Given the description of an element on the screen output the (x, y) to click on. 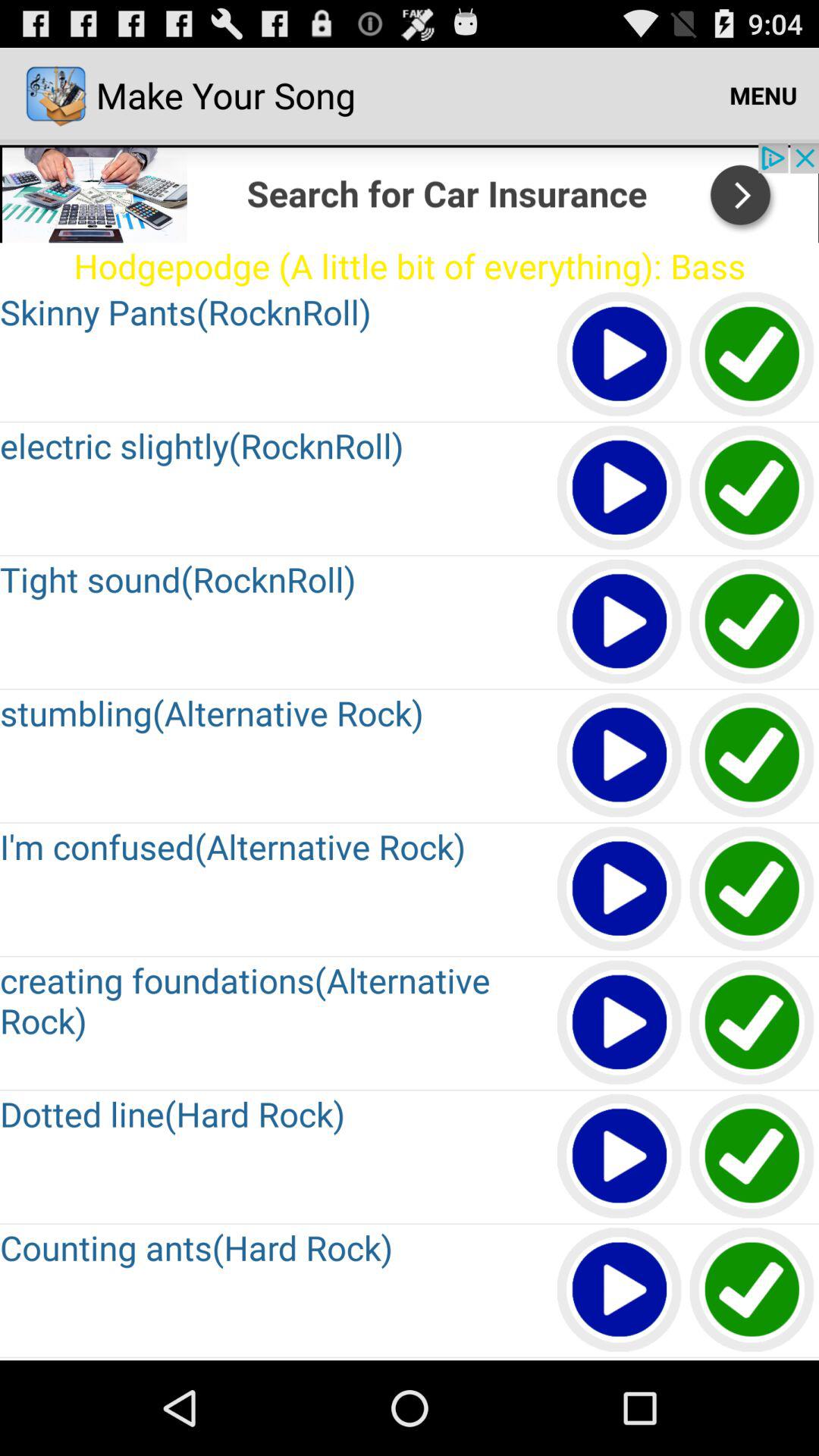
make advertisement (409, 192)
